Given the description of an element on the screen output the (x, y) to click on. 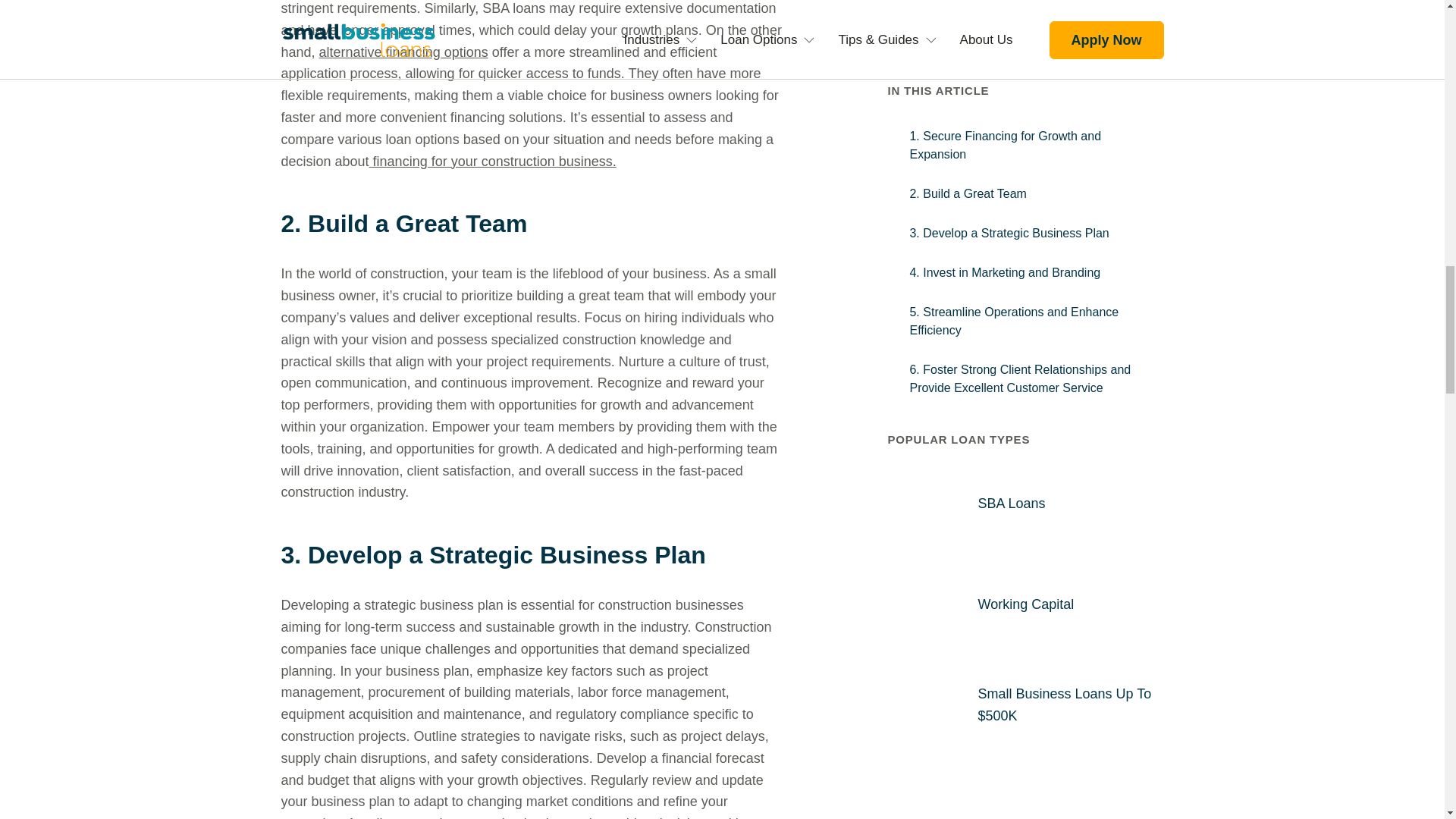
2. Build a Great Team (532, 223)
alternative financing options (402, 52)
financing for your construction business. (492, 160)
3. Develop a Strategic Business Plan (532, 554)
